Given the description of an element on the screen output the (x, y) to click on. 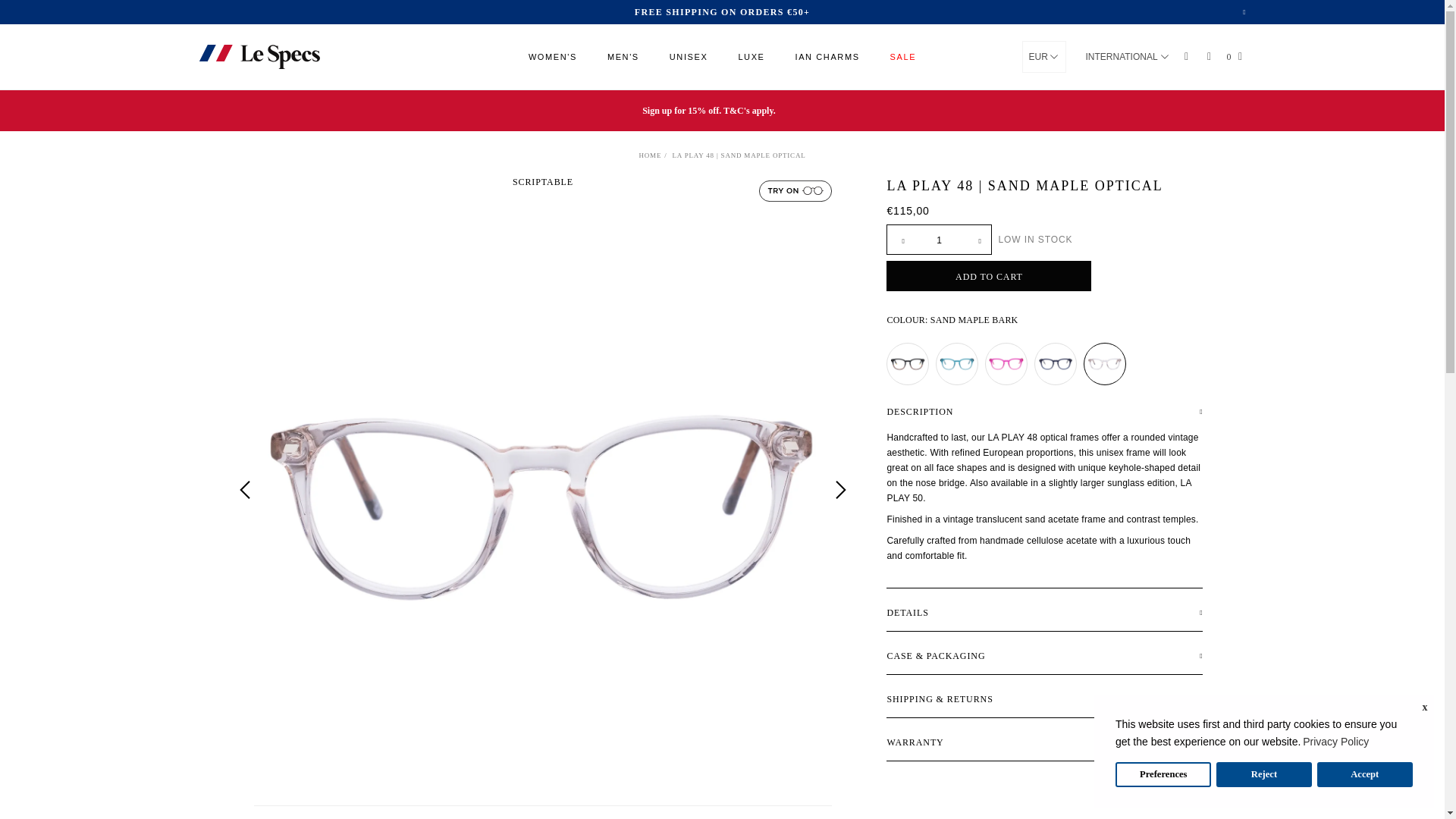
1 (938, 240)
Skip to content (8, 8)
